Given the description of an element on the screen output the (x, y) to click on. 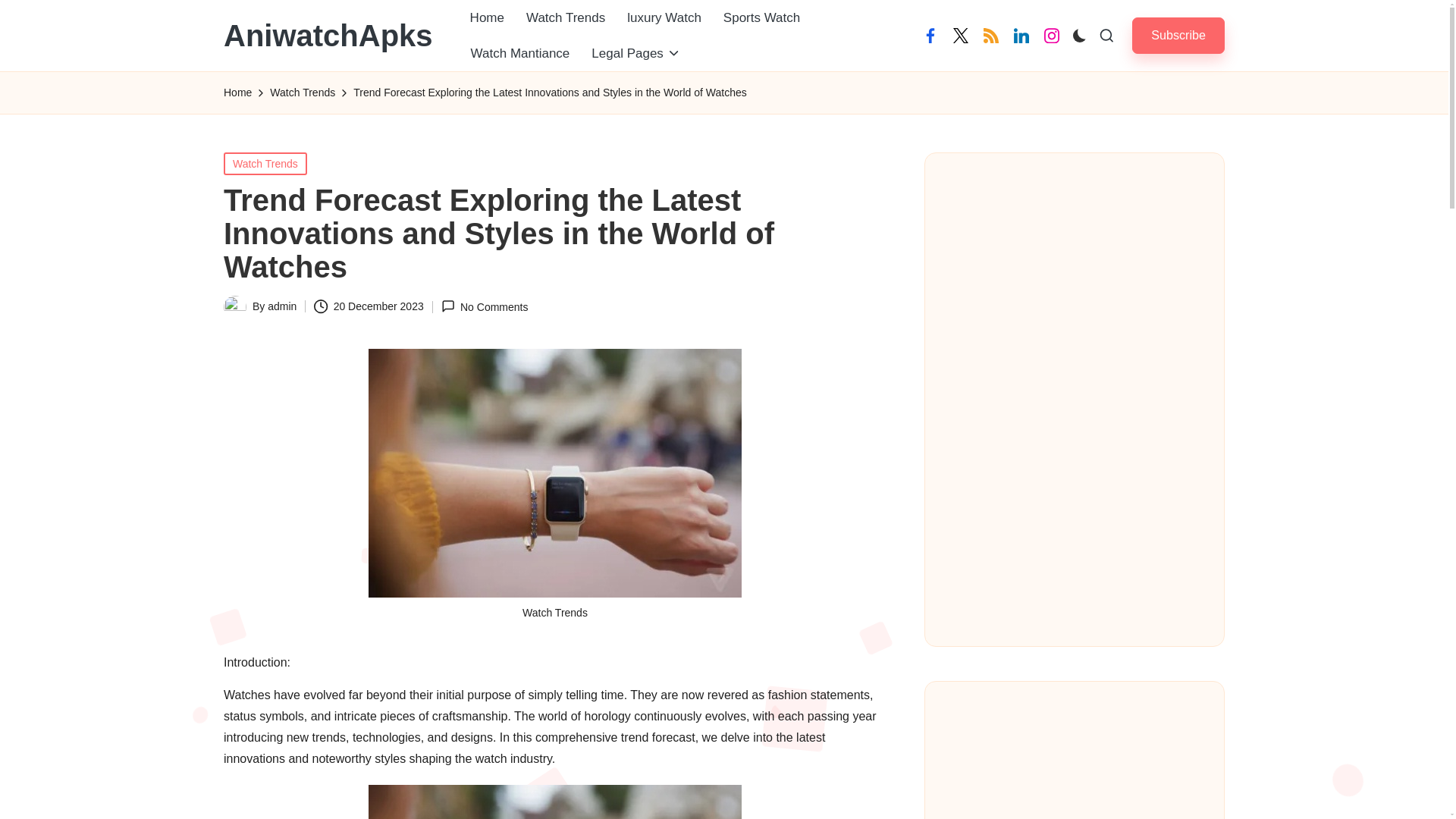
facebook.com (930, 35)
Sports Watch (761, 18)
Watch Mantiance (520, 53)
linkedin.com (1020, 35)
Watch Trends (301, 92)
Home (237, 92)
Legal Pages (635, 53)
View all posts by admin (282, 306)
Home (487, 18)
Watch Trends (265, 162)
luxury Watch (663, 18)
No Comments (484, 306)
rss.com (990, 35)
AniwatchApks (328, 35)
admin (282, 306)
